Given the description of an element on the screen output the (x, y) to click on. 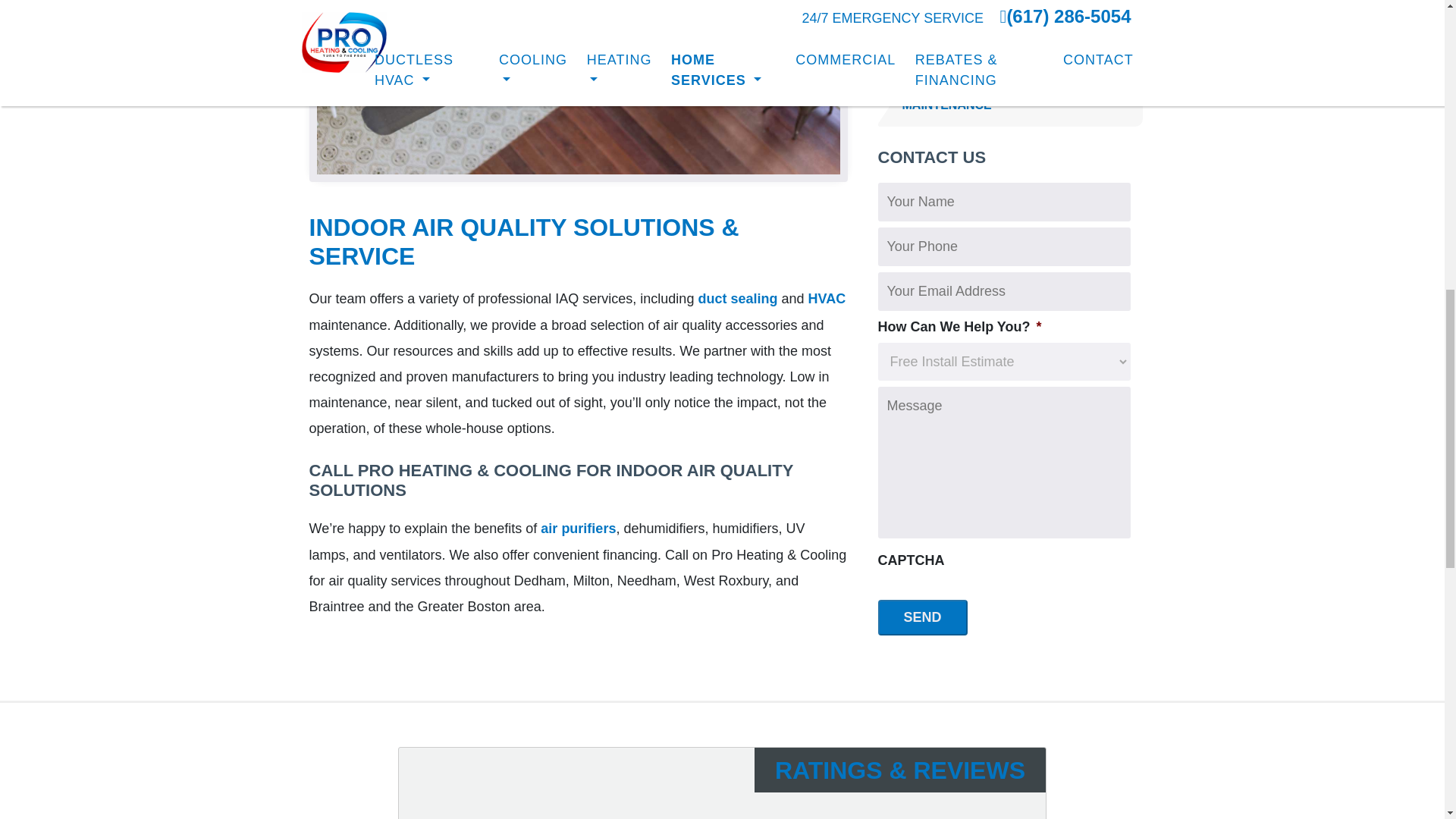
duct sealing (737, 298)
Send (922, 617)
HVAC (826, 298)
